Given the description of an element on the screen output the (x, y) to click on. 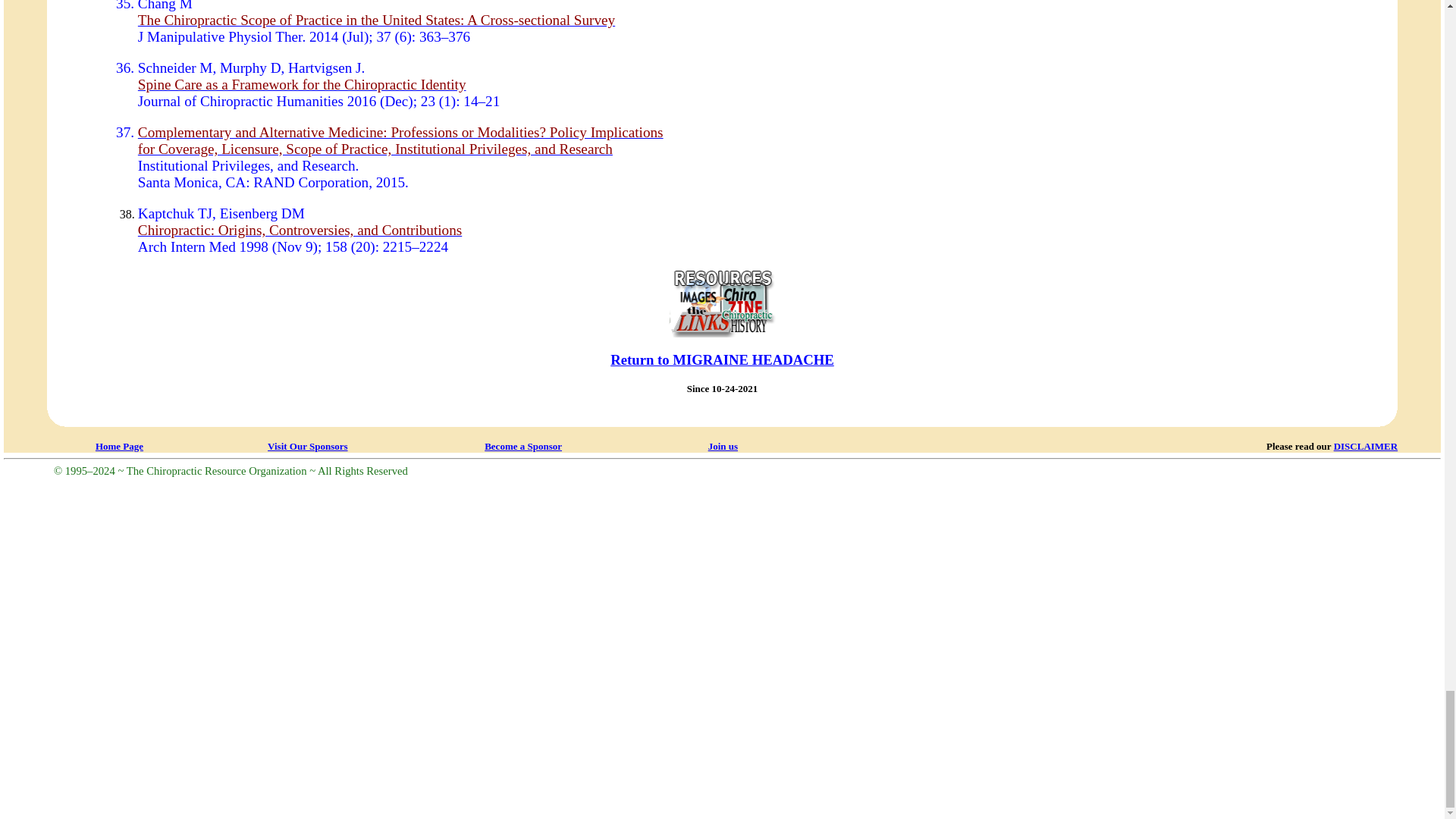
Visit Our Sponsors (307, 446)
Spine Care as a Framework for the Chiropractic Identity (301, 84)
DISCLAIMER (1365, 446)
Home Page (119, 445)
Return to MIGRAINE HEADACHE (721, 385)
Join us (722, 446)
Become a Sponsor (523, 446)
Chiropractic: Origins, Controversies, and Contributions (299, 229)
